Given the description of an element on the screen output the (x, y) to click on. 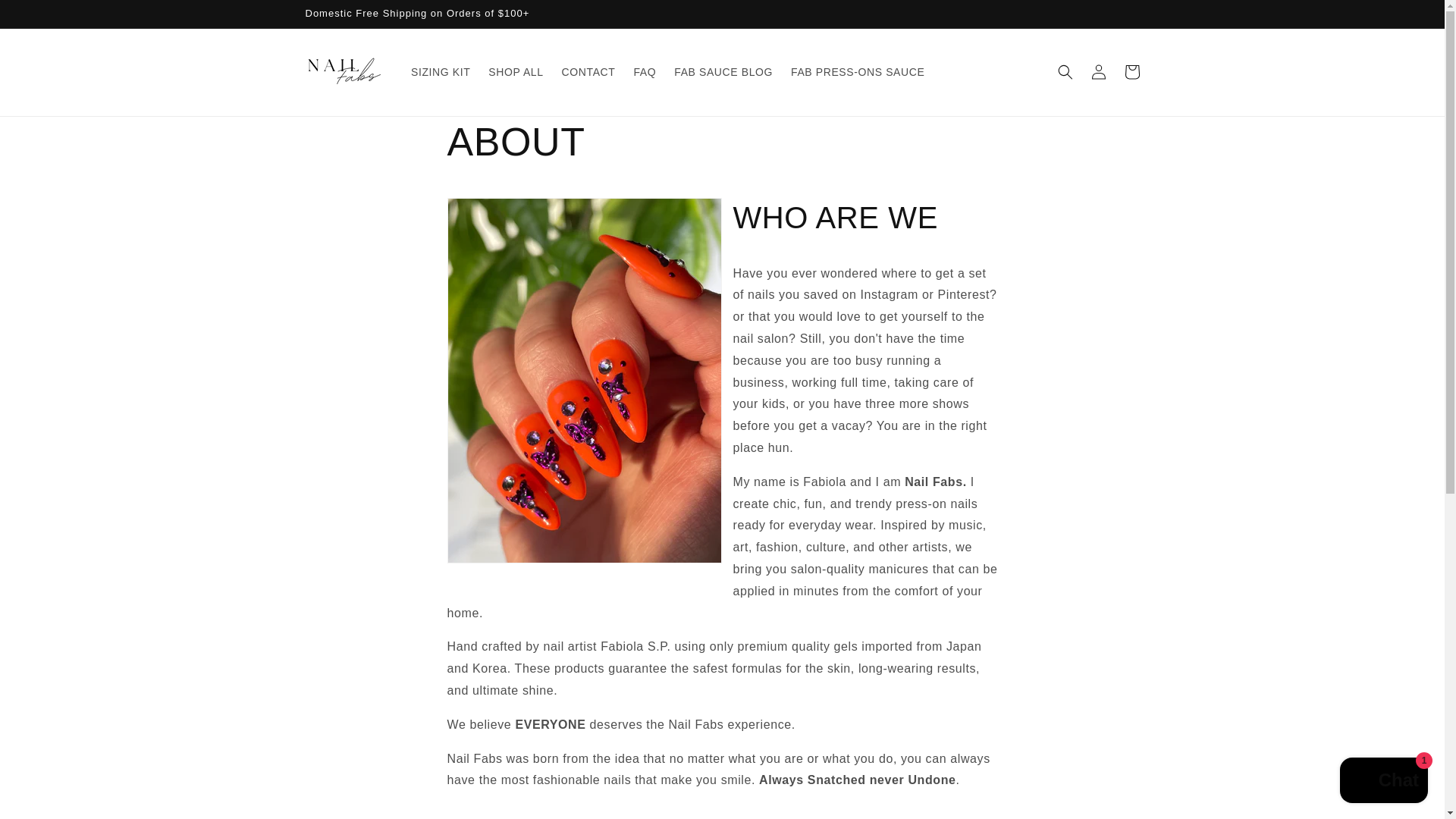
Log in (1098, 71)
SIZING KIT (440, 71)
Skip to content (45, 17)
FAQ (644, 71)
CONTACT (588, 71)
FAB SAUCE BLOG (723, 71)
FAB PRESS-ONS SAUCE (857, 71)
Cart (1131, 71)
SHOP ALL (515, 71)
Shopify online store chat (1383, 781)
